Given the description of an element on the screen output the (x, y) to click on. 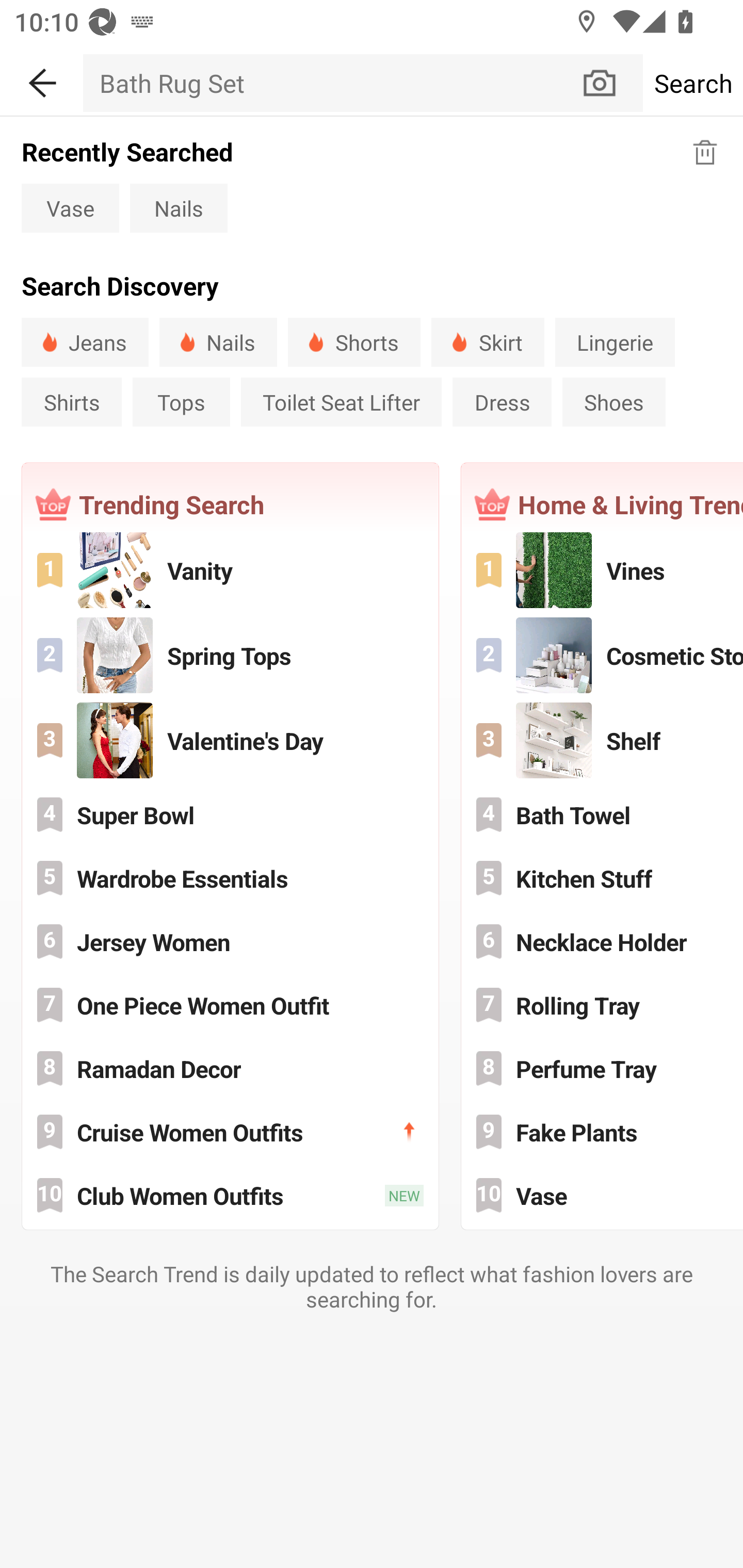
BACK (41, 79)
Bath Rug Set (331, 82)
Search (692, 82)
Recently Searched Vase Vase Nails Nails (371, 183)
Vase (69, 207)
Nails (178, 207)
Jeans (84, 342)
Nails (218, 342)
Shorts (354, 342)
Skirt (487, 342)
Lingerie (614, 342)
Shirts (71, 401)
Tops (181, 401)
Toilet Seat Lifter (340, 401)
Dress (501, 401)
Shoes (613, 401)
Vanity 1 Vanity (230, 569)
Vines 1 Vines (602, 569)
Spring Tops 2 Spring Tops (230, 655)
Cosmetic Storage 2 Cosmetic Storage (602, 655)
Valentine's Day 3 Valentine's Day (230, 739)
Shelf 3 Shelf (602, 739)
Super Bowl 4 Super Bowl (230, 814)
Bath Towel 4 Bath Towel (602, 814)
Wardrobe Essentials 5 Wardrobe Essentials (230, 877)
Kitchen Stuff 5 Kitchen Stuff (602, 877)
Jersey Women 6 Jersey Women (230, 941)
Necklace Holder 6 Necklace Holder (602, 941)
One Piece Women Outfit 7 One Piece Women Outfit (230, 1004)
Rolling Tray 7 Rolling Tray (602, 1004)
Ramadan Decor 8 Ramadan Decor (230, 1068)
Perfume Tray 8 Perfume Tray (602, 1068)
Cruise Women Outfits 9 Cruise Women Outfits (230, 1131)
Fake Plants 9 Fake Plants (602, 1131)
Club Women Outfits 10 Club Women Outfits NEW (230, 1195)
Vase 10 Vase (602, 1195)
